Given the description of an element on the screen output the (x, y) to click on. 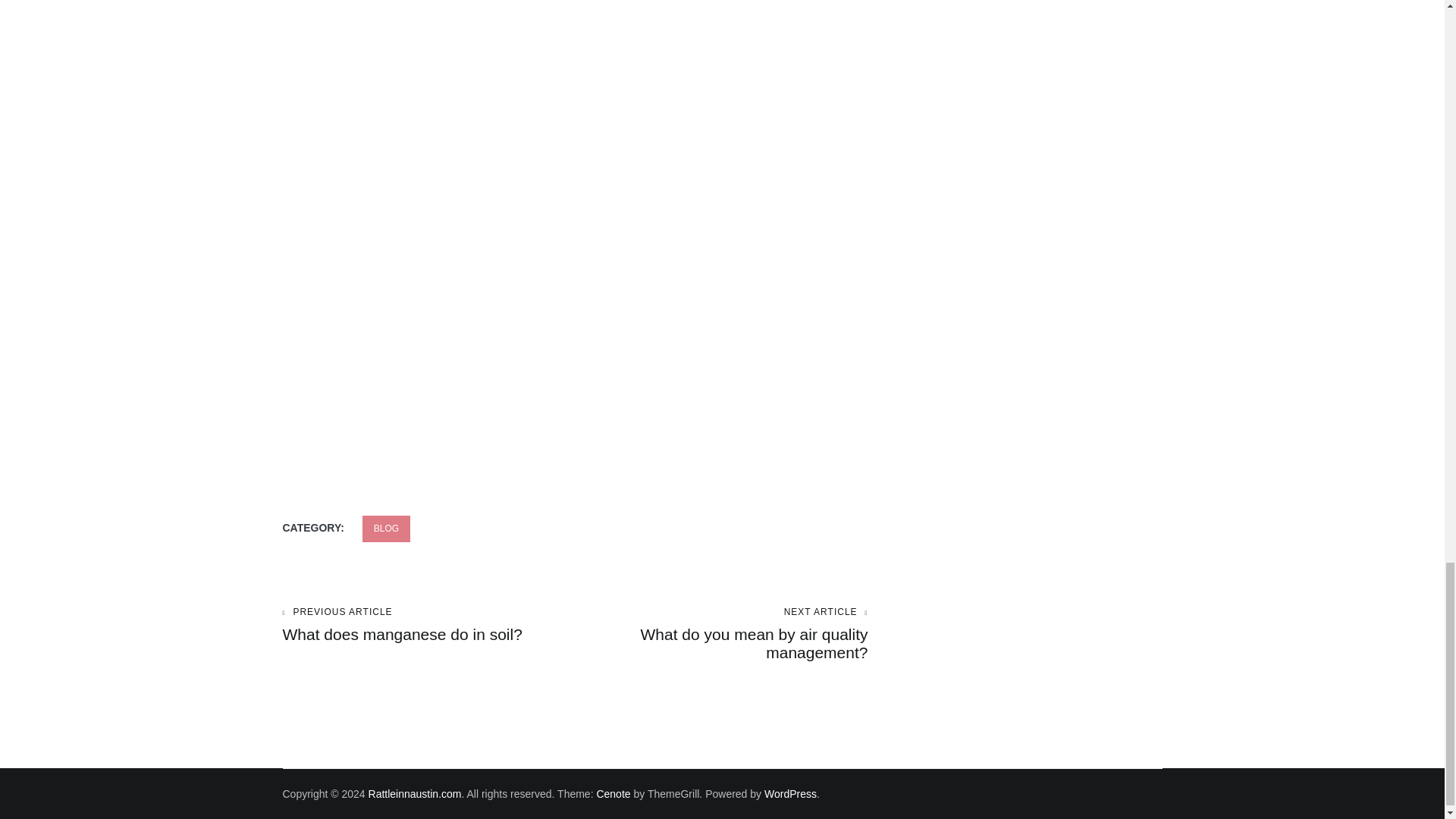
BLOG (386, 528)
Rattleinnaustin.com (414, 793)
IELTS Writing Task2 Opinion essay with Simon (721, 633)
